Given the description of an element on the screen output the (x, y) to click on. 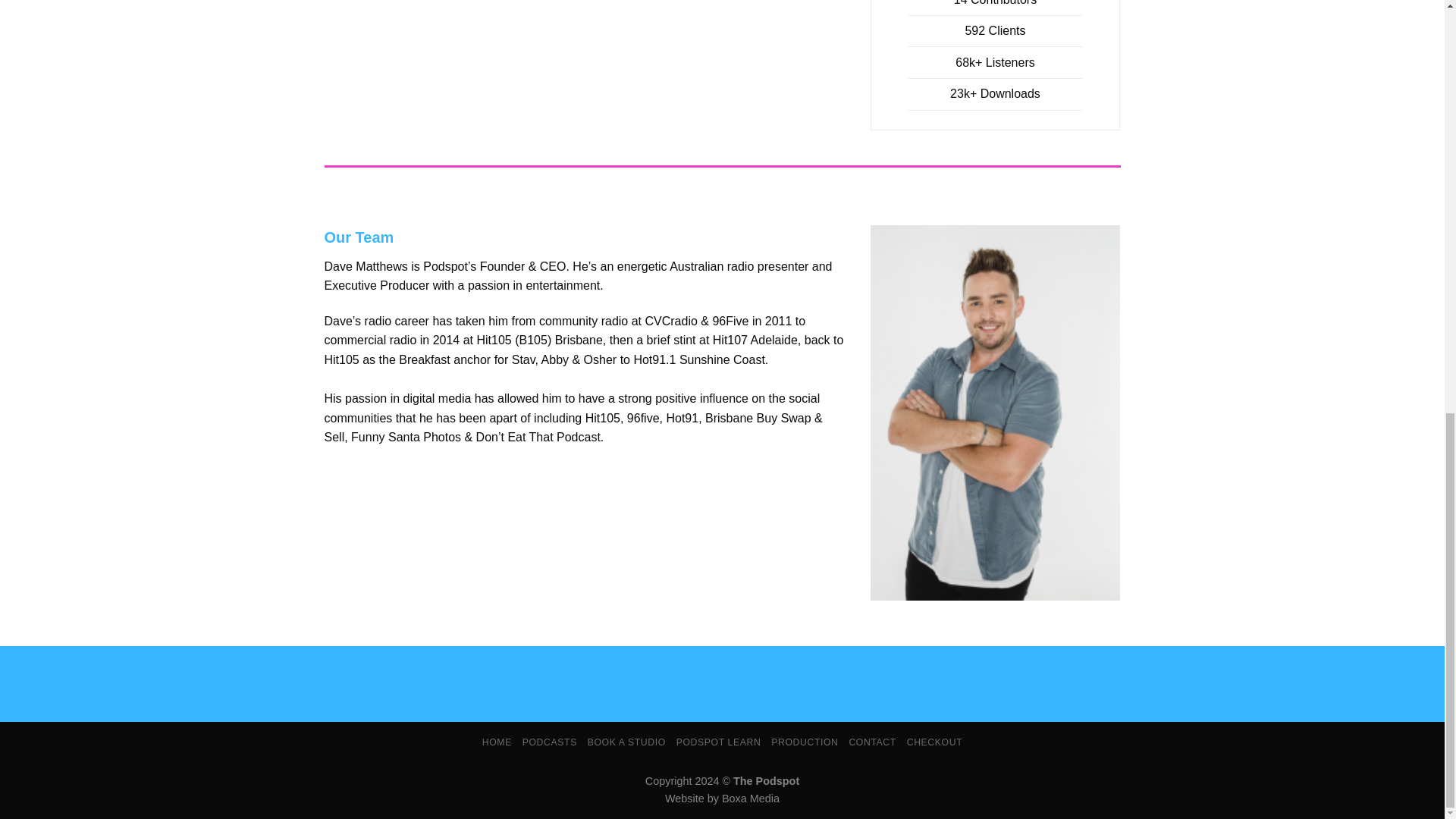
PRODUCTION (804, 742)
PODCASTS (549, 742)
HOME (496, 742)
BOOK A STUDIO (626, 742)
PODSPOT LEARN (719, 742)
